Given the description of an element on the screen output the (x, y) to click on. 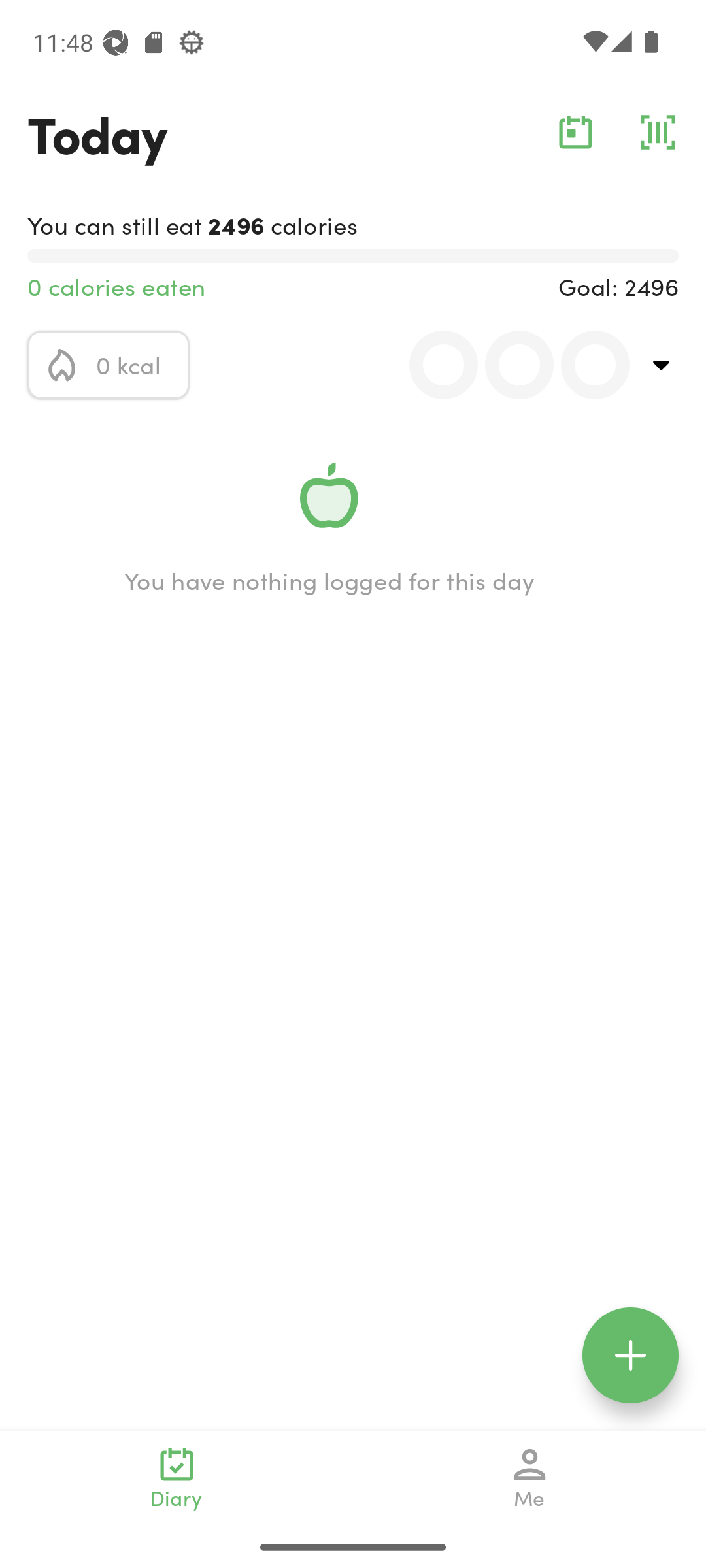
calendar_action (575, 132)
barcode_action (658, 132)
calorie_icon 0 kcal (108, 365)
0.0 0.0 0.0 (508, 365)
top_right_action (661, 365)
floating_action_icon (630, 1355)
Me navigation_icon (529, 1478)
